Given the description of an element on the screen output the (x, y) to click on. 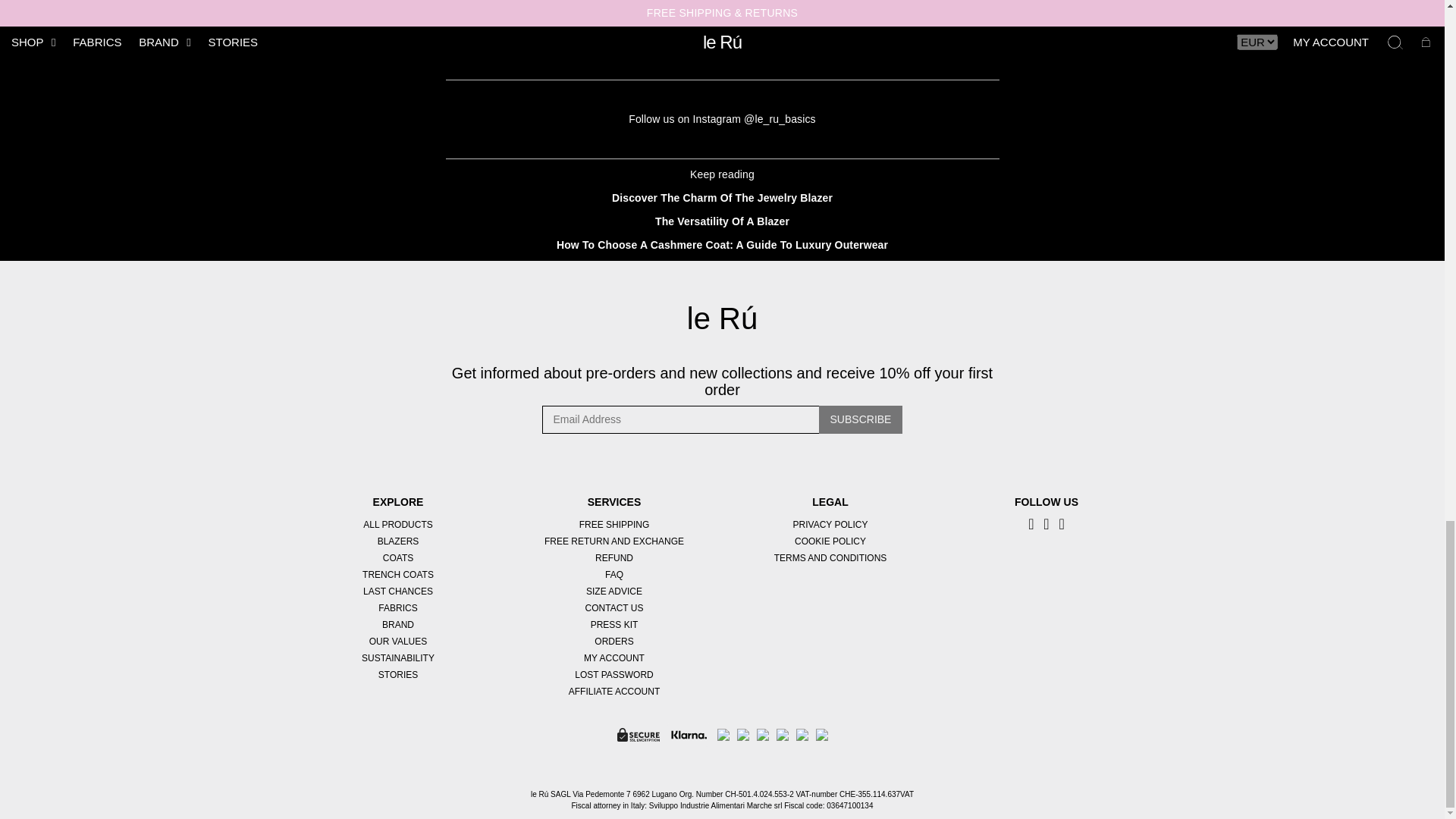
The Versatility Of A Blazer (722, 221)
red clothing (814, 8)
Discover The Charm Of The Jewelry Blazer (721, 197)
How To Choose A Cashmere Coat: A Guide To Luxury Outerwear (722, 244)
EXPLORE (397, 501)
Subscribe (860, 419)
Subscribe (860, 419)
